Given the description of an element on the screen output the (x, y) to click on. 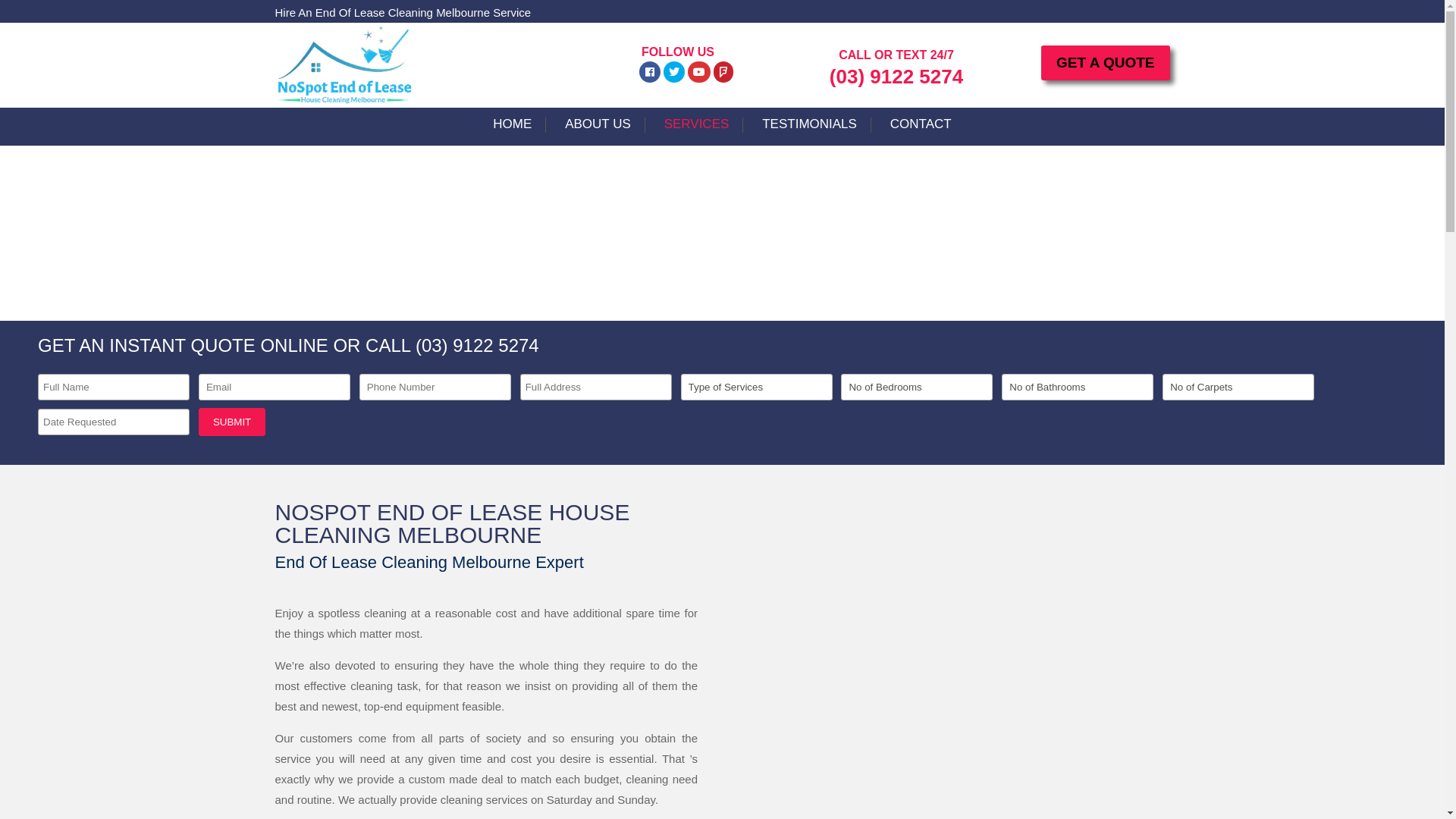
ABOUT US Element type: text (597, 131)
GET A QUOTE Element type: text (1105, 62)
CONTACT Element type: text (920, 131)
(03) 9122 5274 Element type: text (895, 76)
HOME Element type: text (511, 131)
TESTIMONIALS Element type: text (809, 131)
SERVICES Element type: text (696, 131)
Submit Element type: text (231, 421)
